Given the description of an element on the screen output the (x, y) to click on. 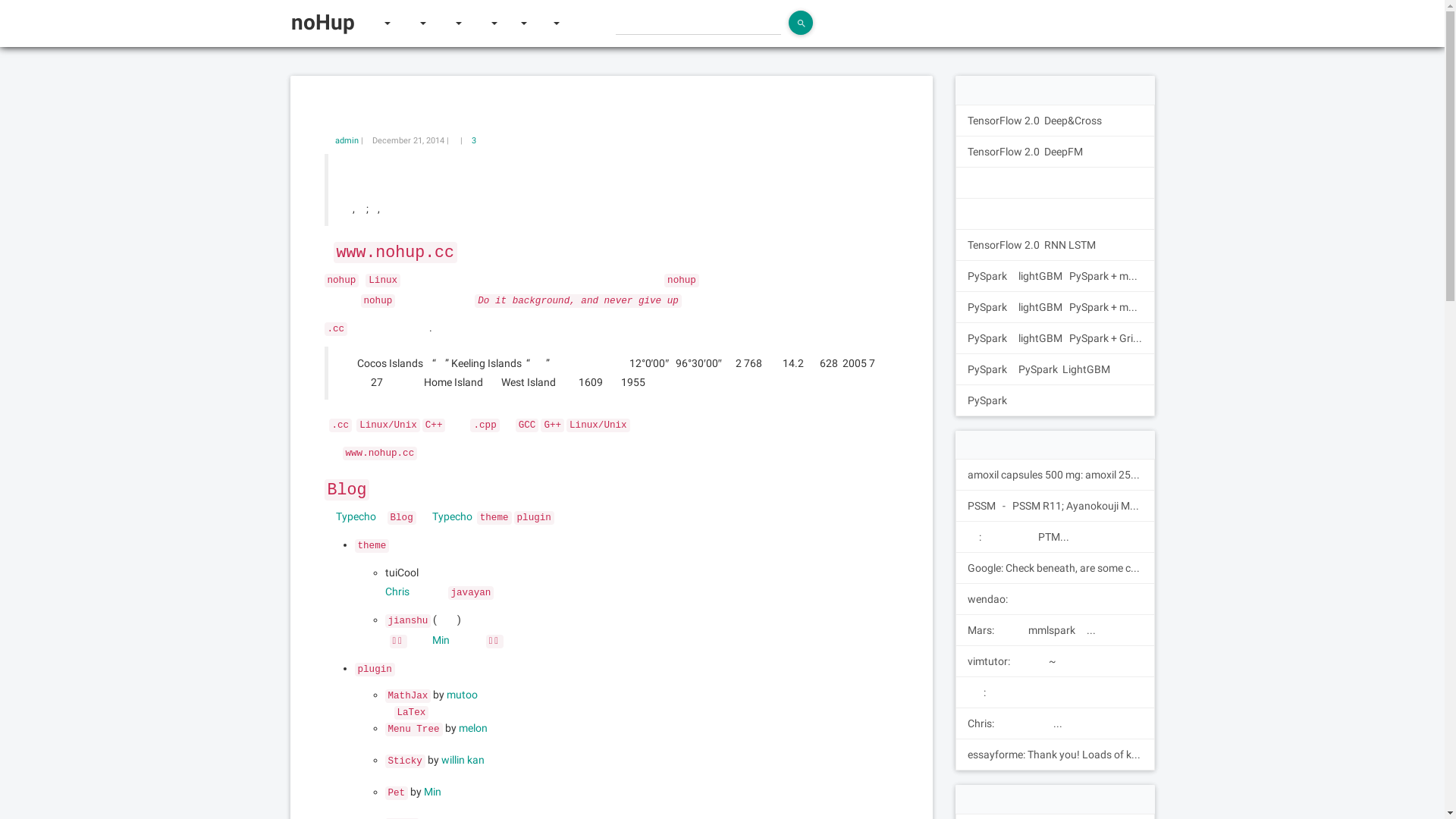
Chris Element type: text (397, 591)
melon Element type: text (472, 727)
amoxil capsules 500 mg: amoxil 250 mg suspension pe... Element type: text (1054, 474)
Min Element type: text (440, 639)
Typecho Element type: text (452, 516)
willin kan Element type: text (462, 759)
noHup Element type: text (327, 22)
essayforme: Thank you! Loads of knowledge! Element type: text (1054, 754)
mutoo Element type: text (461, 694)
Typecho Element type: text (355, 516)
admin Element type: text (346, 140)
javayan Element type: text (470, 591)
Google: Check beneath, are some com... Element type: text (1054, 567)
jianshu Element type: text (408, 619)
Min Element type: text (432, 791)
